Given the description of an element on the screen output the (x, y) to click on. 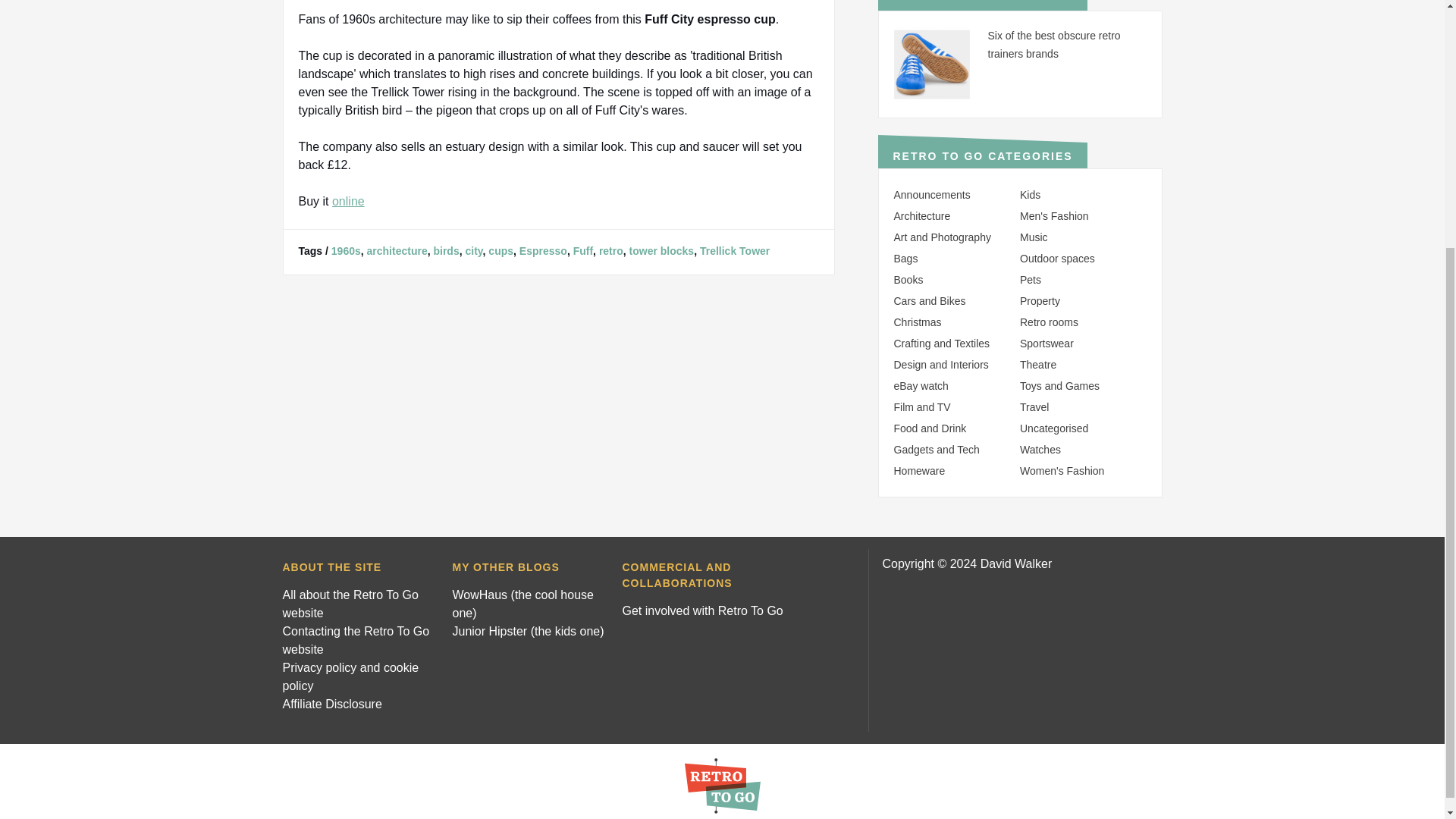
Fuff (582, 250)
Announcements (931, 194)
retro (610, 250)
architecture (397, 250)
Six of the best obscure retro trainers brands (1053, 44)
cups (500, 250)
birds (445, 250)
city (472, 250)
Trellick Tower (735, 250)
1960s (346, 250)
tower blocks (661, 250)
online (348, 201)
Espresso (543, 250)
